Given the description of an element on the screen output the (x, y) to click on. 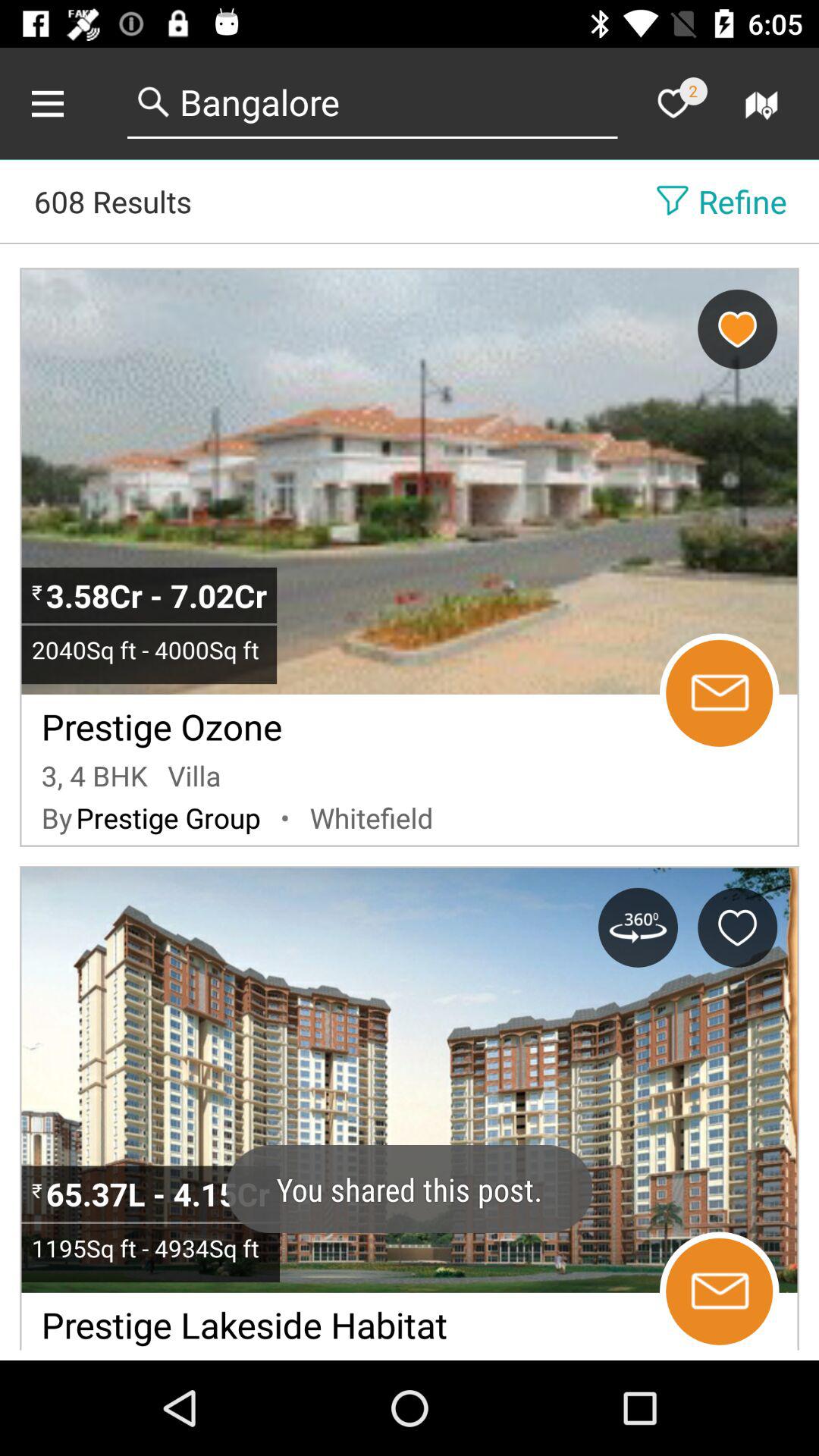
tap icon above the prestige lakeside habitat item (150, 1247)
